Given the description of an element on the screen output the (x, y) to click on. 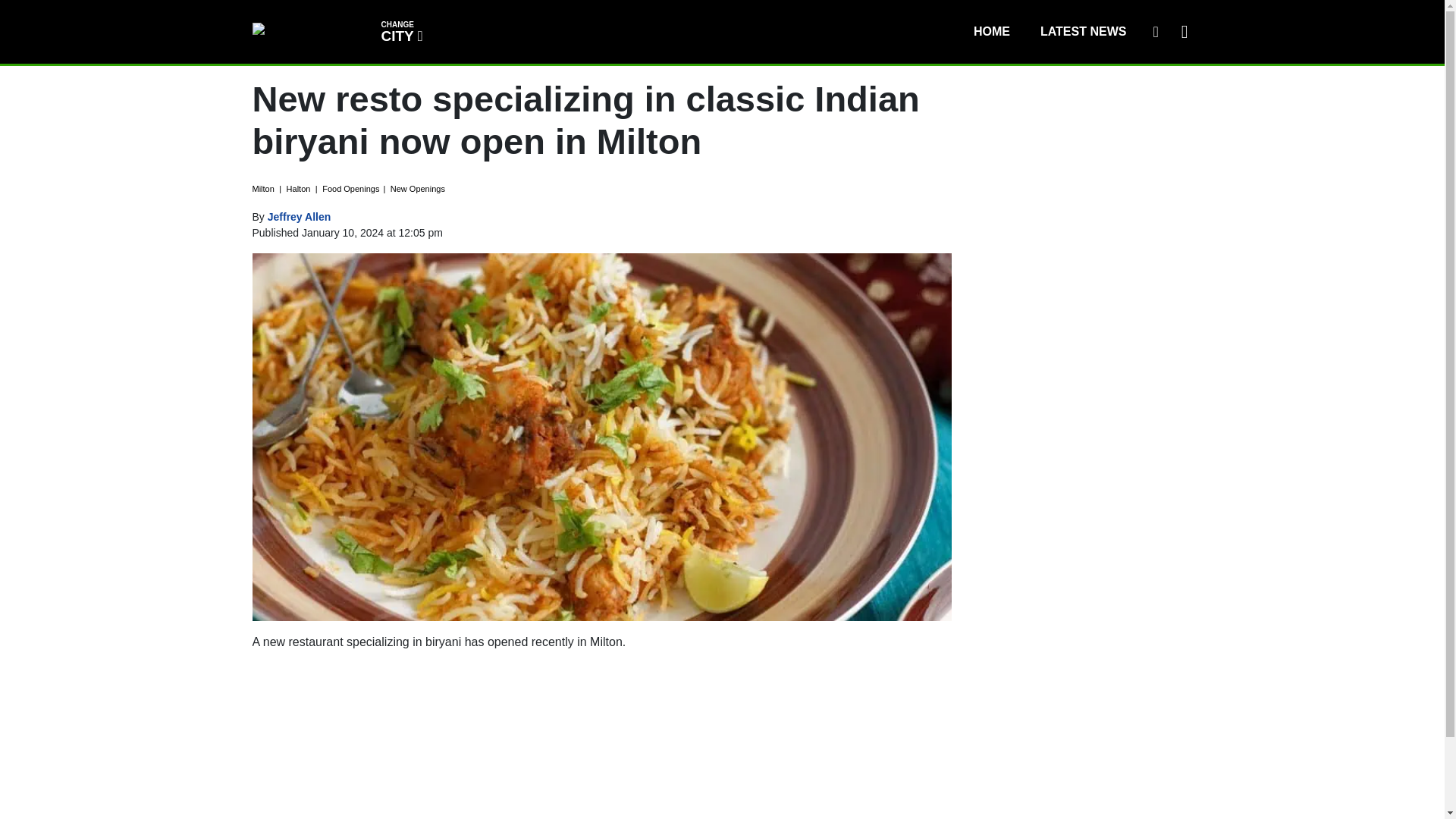
Posts by 944 (299, 216)
SIGN UP FOR OUR NEWSLETTER (400, 30)
HOME (1155, 31)
LATEST NEWS (991, 31)
